Given the description of an element on the screen output the (x, y) to click on. 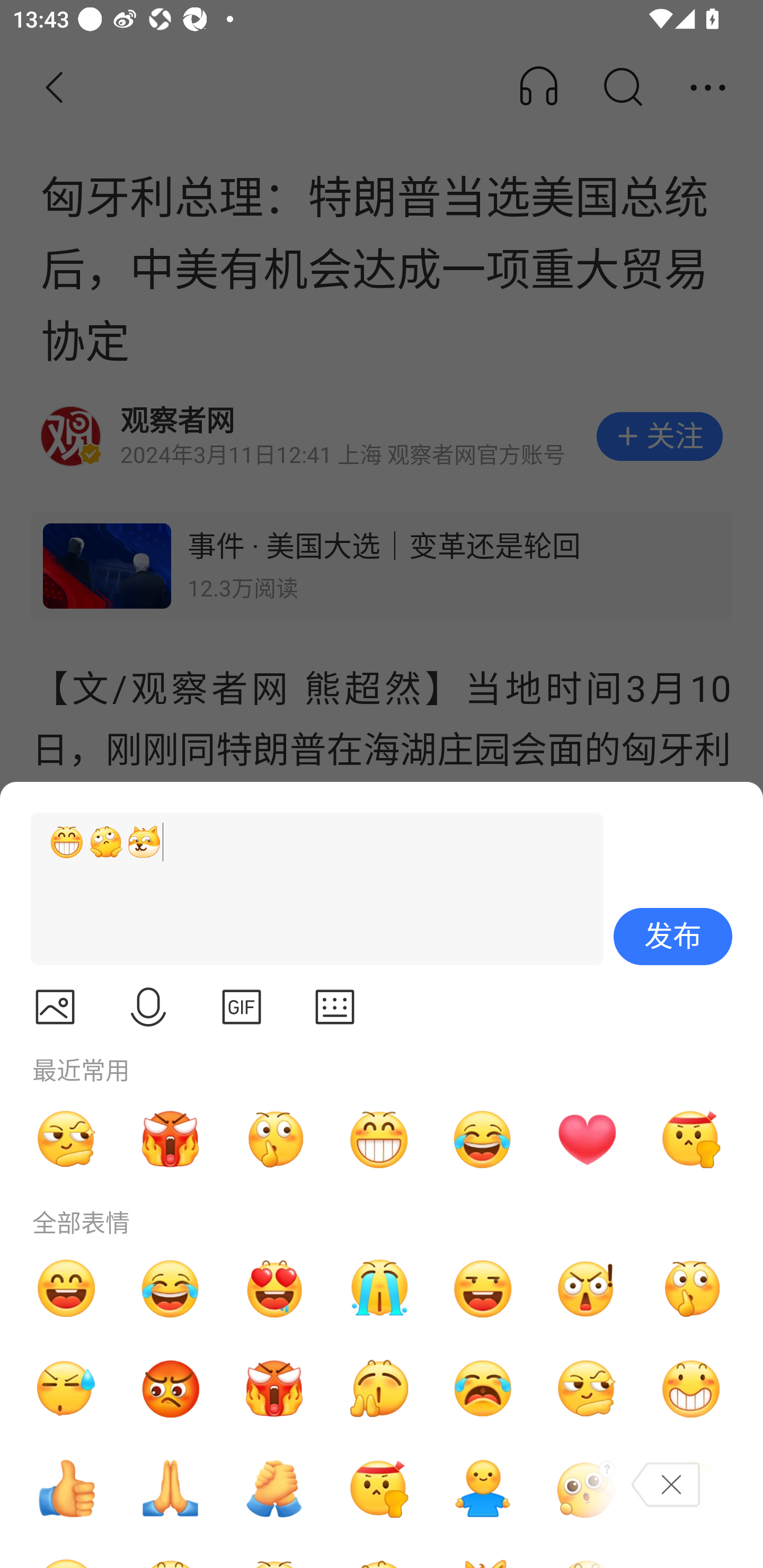
[呲牙][无聊][奸笑] (308, 888)
发布 (672, 936)
 (54, 1007)
 (148, 1007)
 (241, 1007)
 (334, 1007)
机智 (66, 1138)
愤怒 (170, 1138)
嘘 (274, 1138)
呲牙 (378, 1138)
哭笑 (482, 1138)
心 (586, 1138)
奋斗 (690, 1138)
哈哈 (66, 1288)
哭笑 (170, 1288)
喜欢 (274, 1288)
哭 (378, 1288)
嘿嘿 (482, 1288)
吃惊 (586, 1288)
嘘 (690, 1288)
汗 (66, 1389)
生气 (170, 1389)
愤怒 (274, 1389)
喝彩 (378, 1389)
抓狂 (482, 1389)
机智 (586, 1389)
坏笑 (690, 1389)
点赞 (66, 1488)
缅怀 (170, 1488)
加油 (274, 1488)
奋斗 (378, 1488)
抱抱 (482, 1488)
疑问 (586, 1488)
捂脸 (690, 1488)
